Given the description of an element on the screen output the (x, y) to click on. 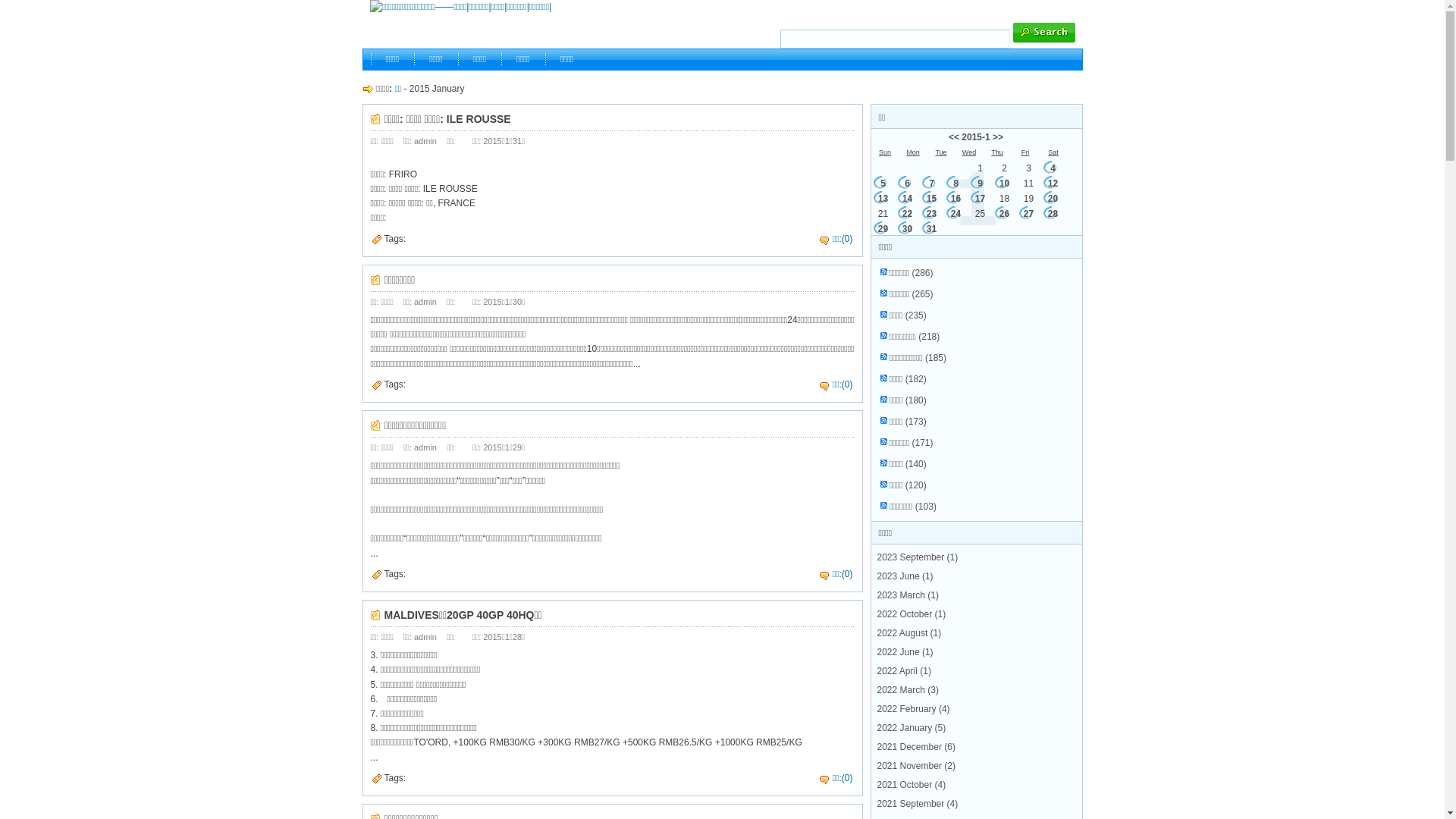
14 Element type: text (907, 198)
2022 October (1) Element type: text (910, 613)
29 Element type: text (883, 228)
22 Element type: text (907, 213)
16 Element type: text (955, 198)
12 Element type: text (1052, 183)
4 Element type: text (1052, 168)
26 Element type: text (1004, 213)
31 Element type: text (931, 228)
>> Element type: text (997, 136)
2015-1 Element type: text (975, 136)
20 Element type: text (1052, 198)
15 Element type: text (931, 198)
28 Element type: text (1052, 213)
2023 June (1) Element type: text (904, 576)
2023 March (1) Element type: text (907, 594)
23 Element type: text (931, 213)
2022 February (4) Element type: text (912, 708)
2021 September (4) Element type: text (916, 803)
17 Element type: text (980, 198)
27 Element type: text (1028, 213)
7 Element type: text (931, 183)
2022 April (1) Element type: text (903, 670)
2021 October (4) Element type: text (910, 784)
9 Element type: text (979, 183)
2021 December (6) Element type: text (915, 746)
6 Element type: text (907, 183)
13 Element type: text (883, 198)
24 Element type: text (955, 213)
5 Element type: text (882, 183)
2022 August (1) Element type: text (908, 632)
<< Element type: text (953, 136)
10 Element type: text (1004, 183)
30 Element type: text (907, 228)
2022 January (5) Element type: text (910, 727)
2023 September (1) Element type: text (916, 557)
2022 March (3) Element type: text (907, 689)
8 Element type: text (955, 183)
2022 June (1) Element type: text (904, 651)
2021 November (2) Element type: text (915, 765)
